Given the description of an element on the screen output the (x, y) to click on. 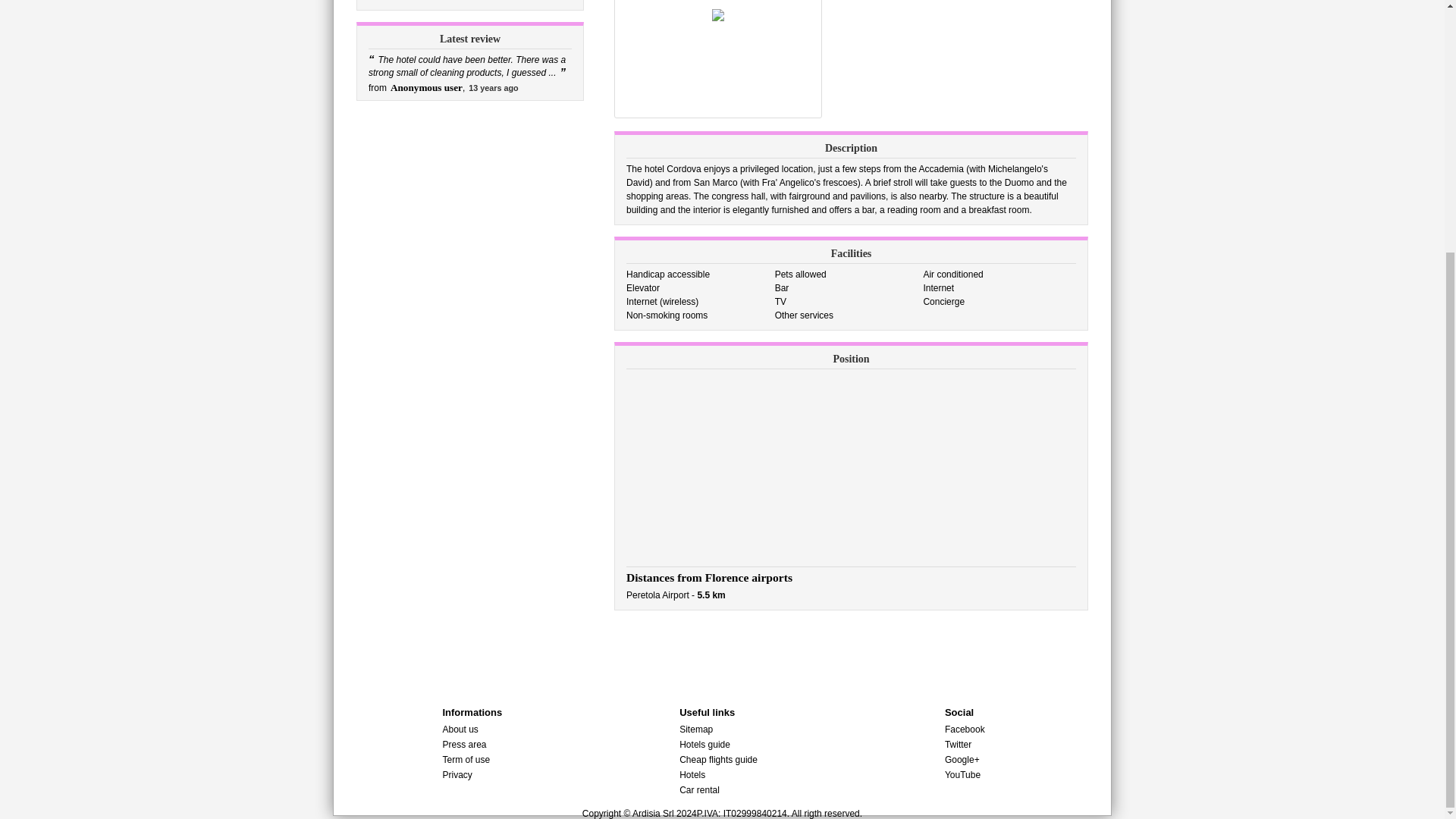
Site map (696, 728)
YouTube (961, 774)
Privacy (456, 774)
About us (459, 728)
Cheap flights guide (718, 759)
Term of use (465, 759)
Press area (464, 744)
Press area (464, 744)
Facebook (964, 728)
Sitemap (696, 728)
